Given the description of an element on the screen output the (x, y) to click on. 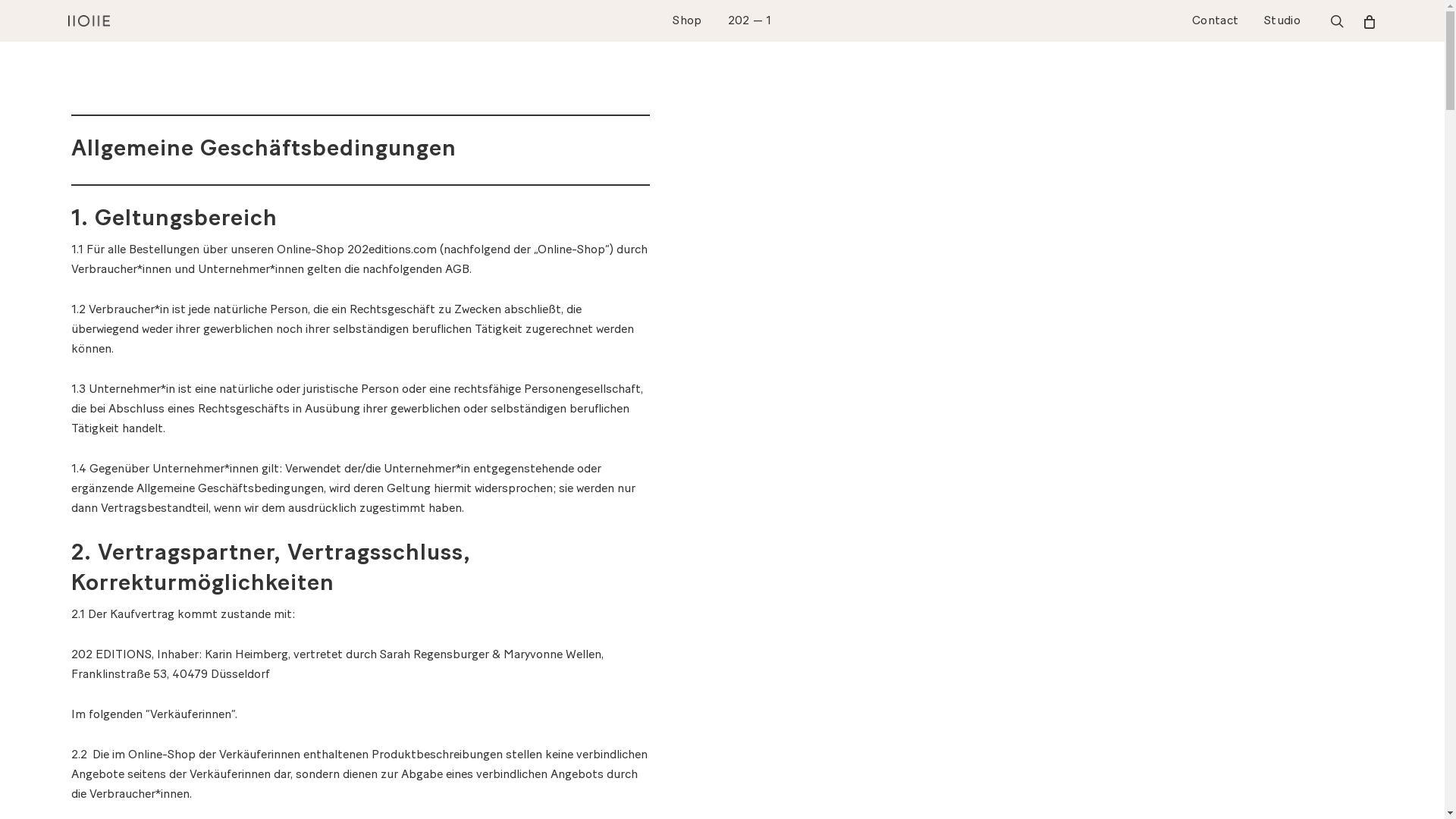
search Element type: text (1336, 20)
Shop Element type: text (686, 21)
Contact Element type: text (1215, 21)
Studio Element type: text (1282, 21)
